Given the description of an element on the screen output the (x, y) to click on. 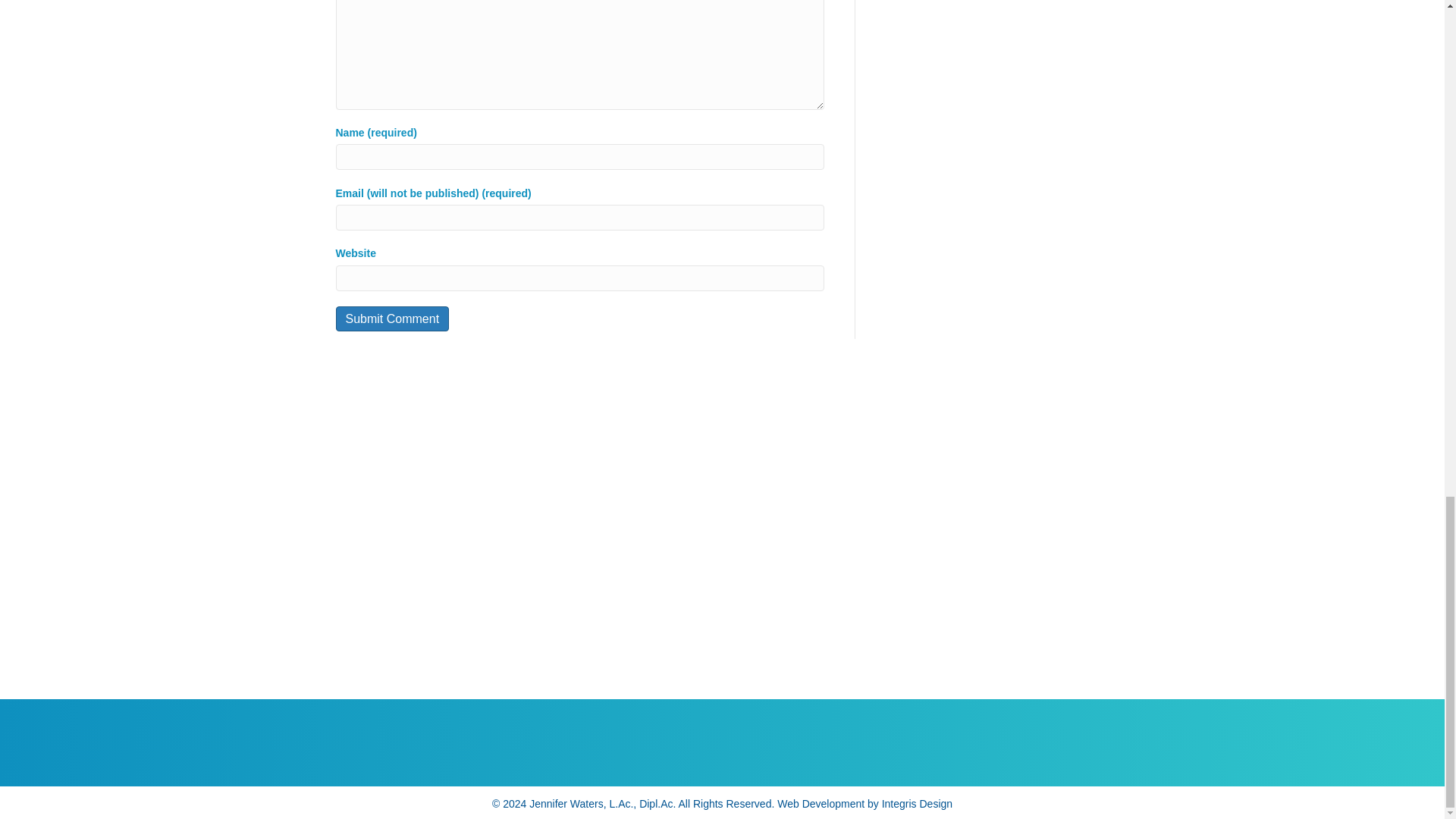
Submit Comment (391, 318)
